Given the description of an element on the screen output the (x, y) to click on. 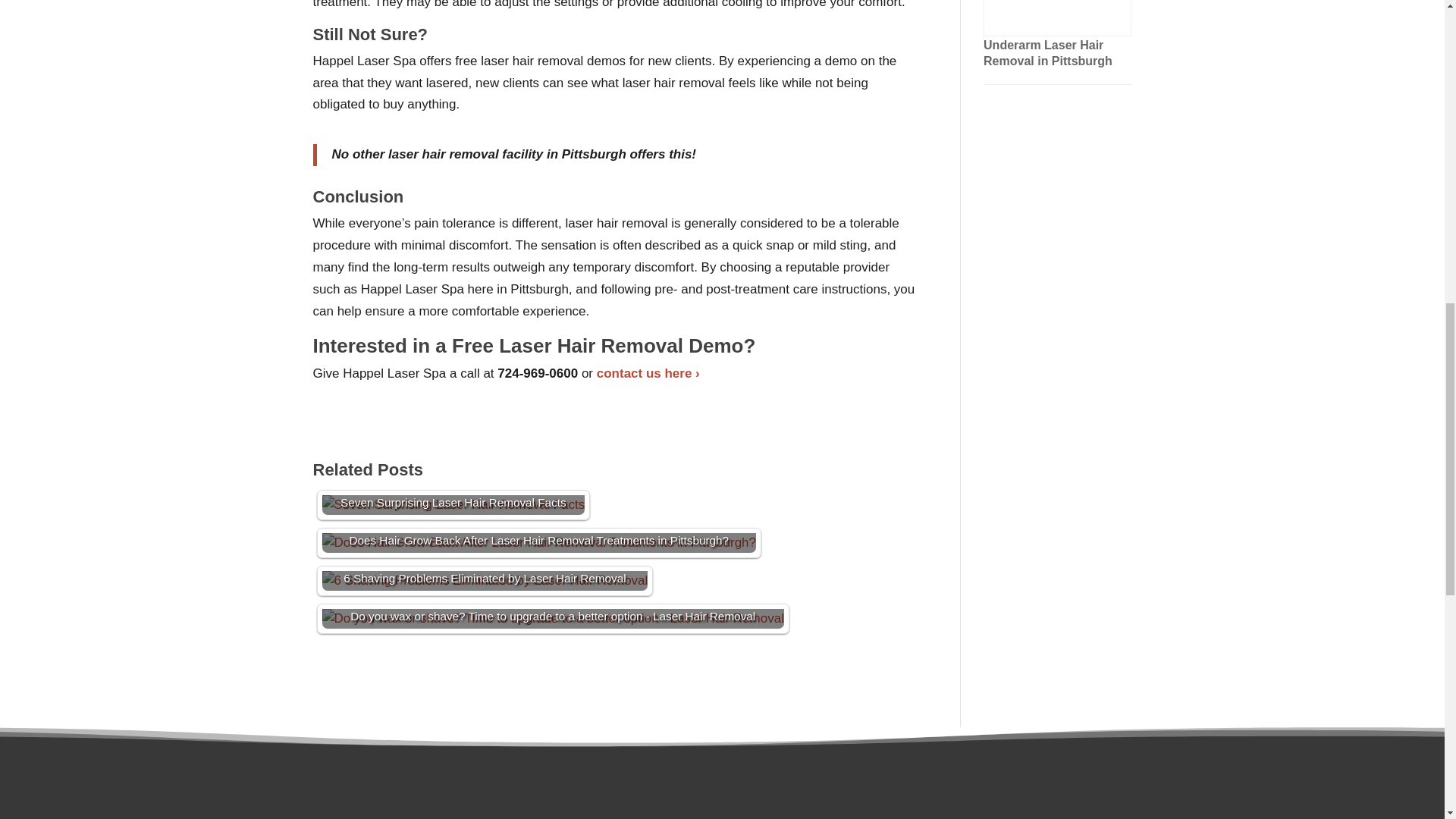
6 Shaving Problems Eliminated by Laser Hair Removal (484, 580)
6 Shaving Problems Eliminated by Laser Hair Removal (484, 580)
Seven Surprising Laser Hair Removal Facts (453, 505)
Seven Surprising Laser Hair Removal Facts (453, 505)
